Given the description of an element on the screen output the (x, y) to click on. 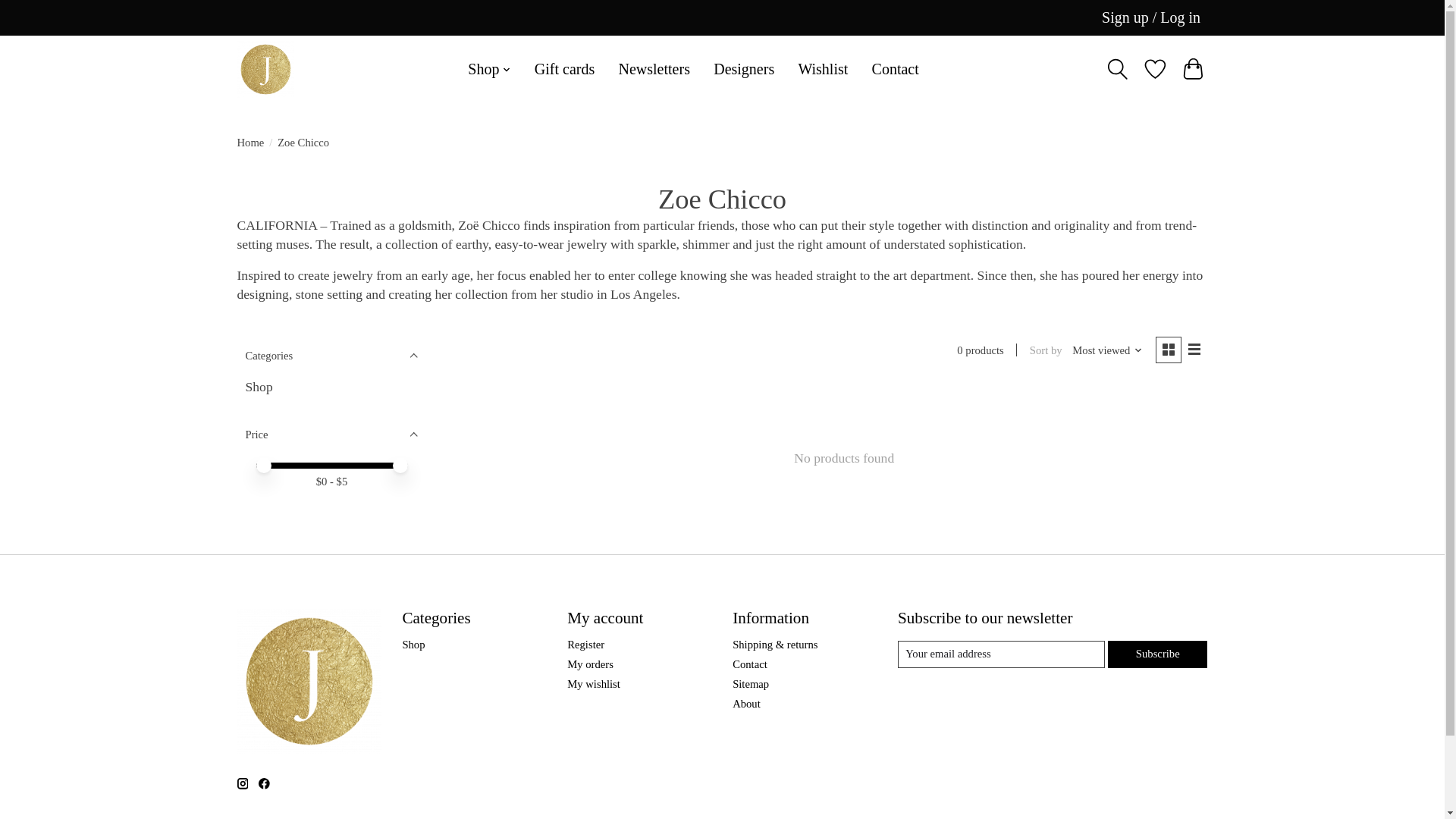
Jill Alberts Jewelry (264, 68)
Wishlist (823, 69)
Contact  (749, 664)
Home (249, 142)
My wishlist (593, 684)
Categories (330, 355)
My orders (589, 664)
Sitemap (750, 684)
Price (330, 434)
Most viewed (1106, 350)
Designers (743, 69)
My account (1151, 17)
About  (746, 703)
Shop (259, 386)
Contact (895, 69)
